Given the description of an element on the screen output the (x, y) to click on. 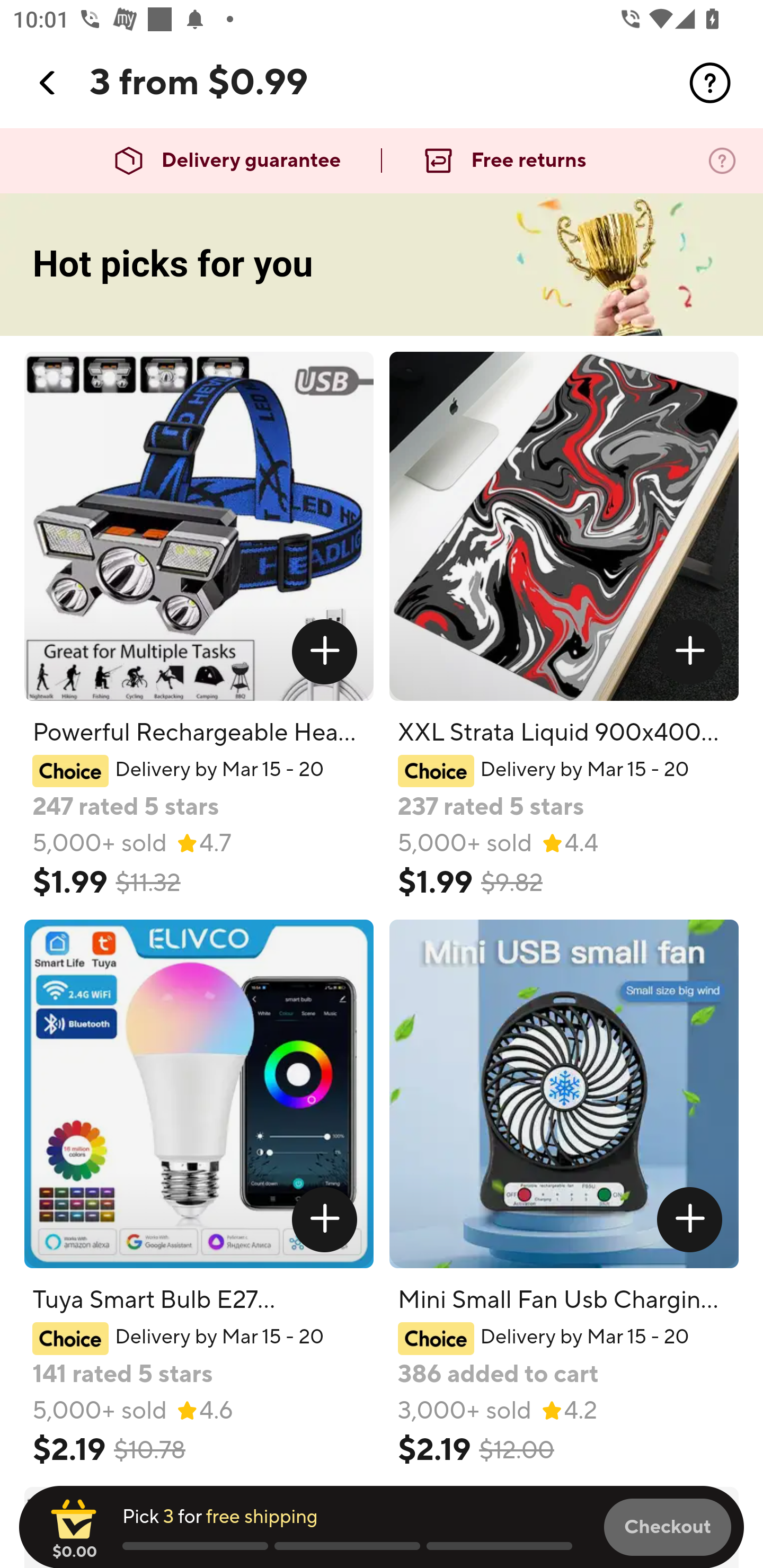
 (710, 82)
 (48, 82)
Hot picks for you (381, 264)
 (323, 651)
 (689, 651)
 (323, 1218)
 (689, 1218)
